Given the description of an element on the screen output the (x, y) to click on. 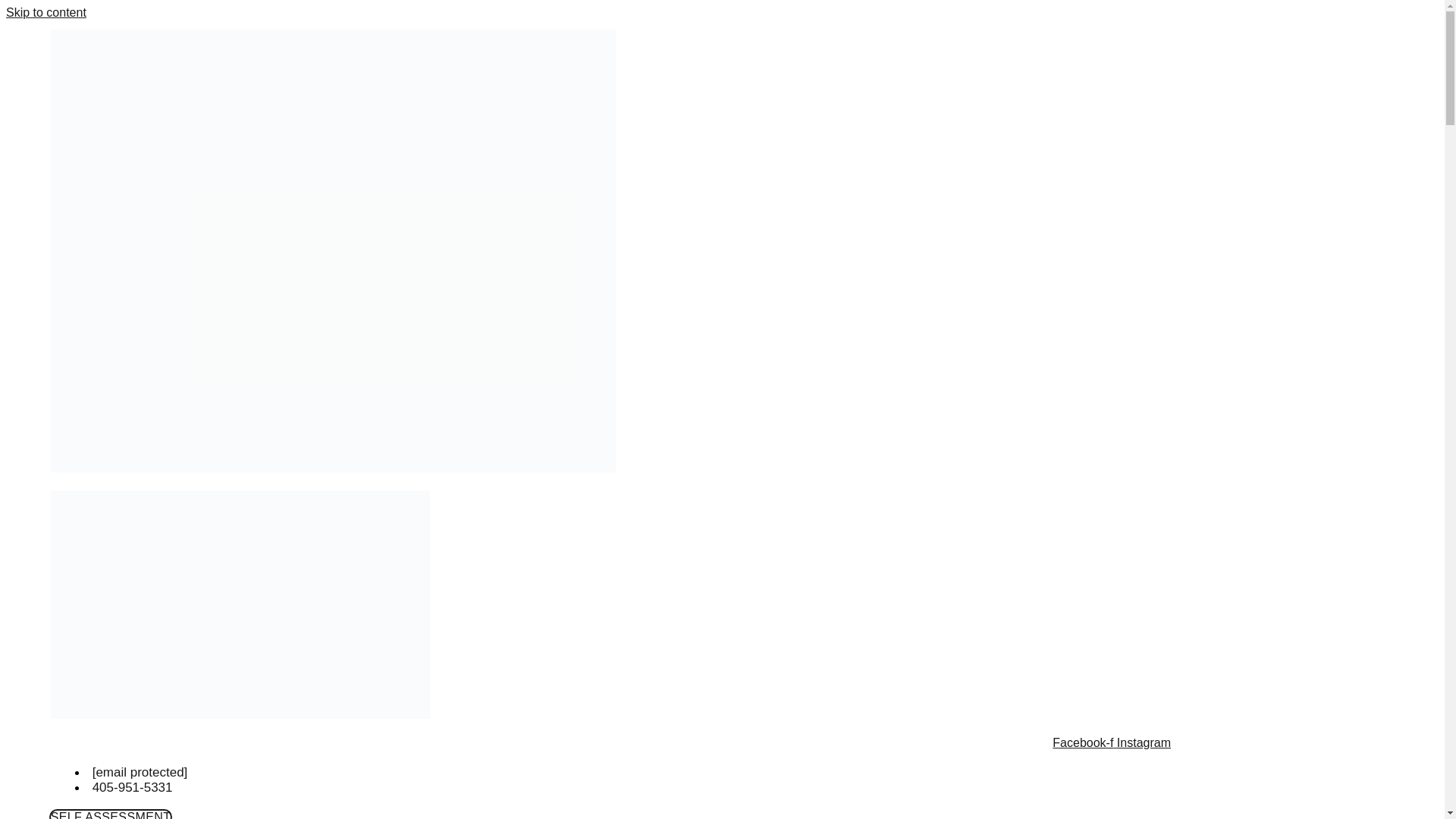
SELF ASSESSMENT (111, 814)
Instagram (1143, 742)
Facebook-f (1084, 742)
405-951-5331 (130, 787)
Skip to content (45, 11)
